Given the description of an element on the screen output the (x, y) to click on. 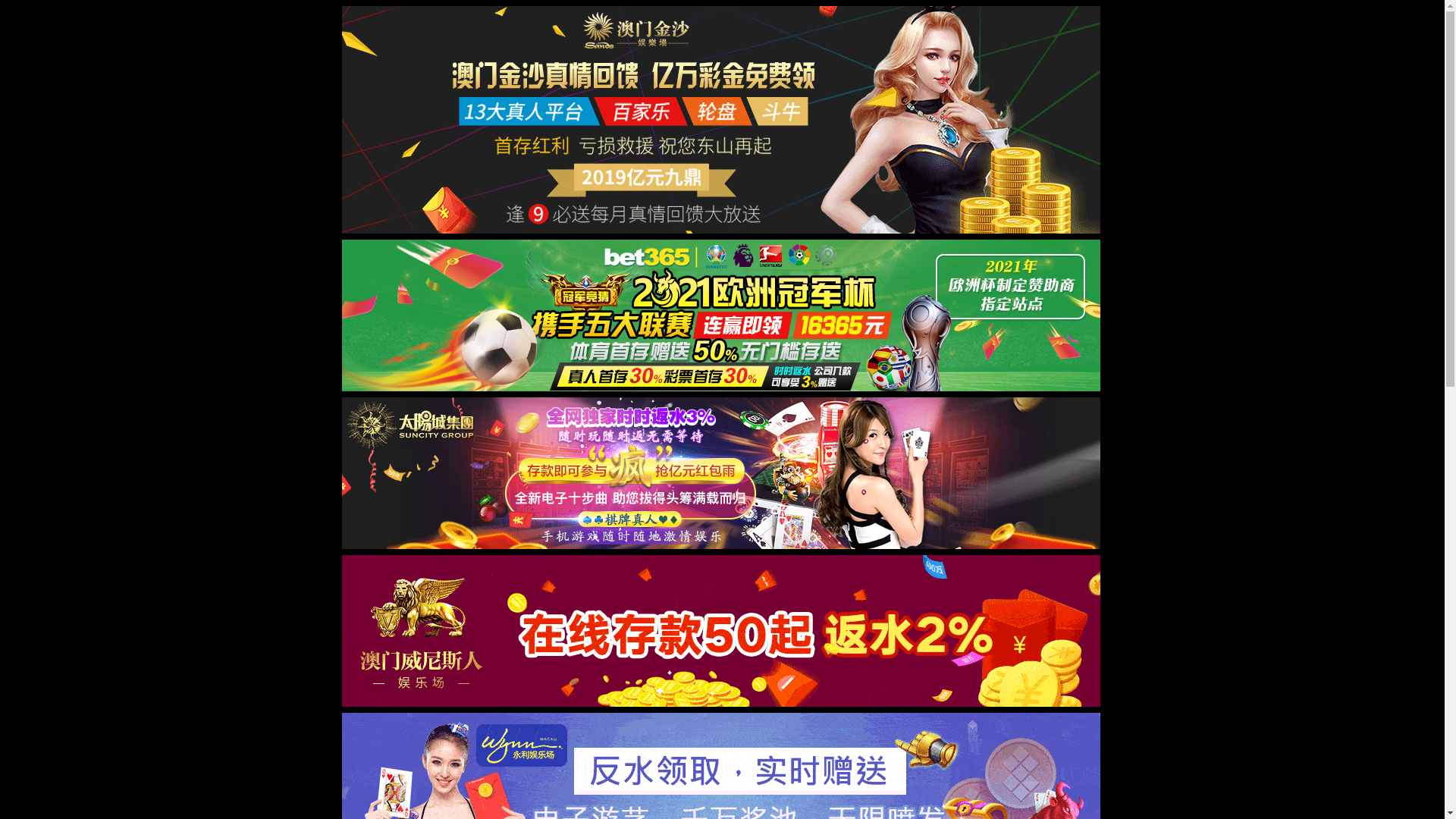
ThinkPHP Element type: text (61, 235)
